Given the description of an element on the screen output the (x, y) to click on. 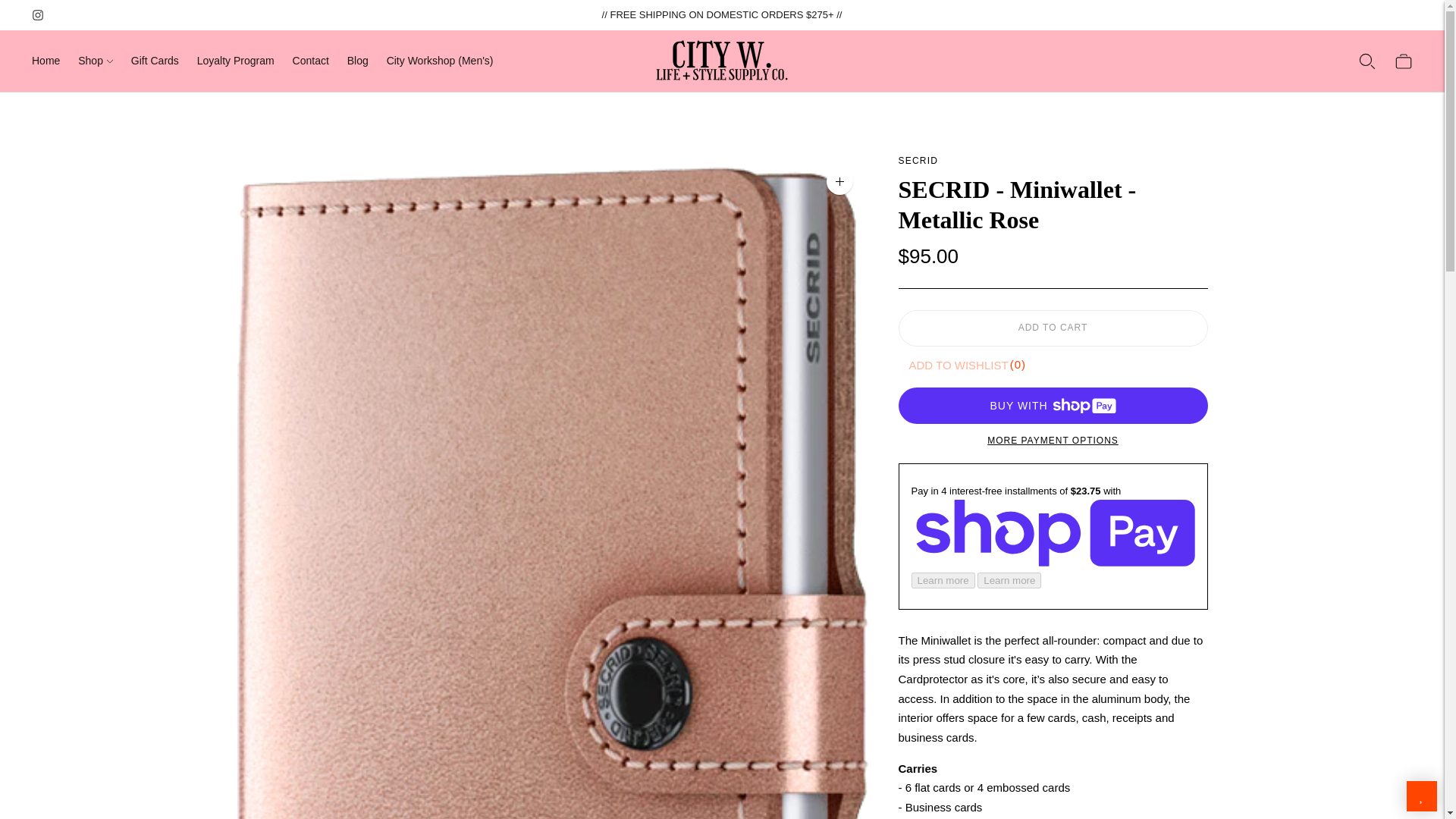
City W.  on Instagram (37, 14)
SECRID (917, 160)
Shop (95, 60)
Gift Cards (155, 60)
